Given the description of an element on the screen output the (x, y) to click on. 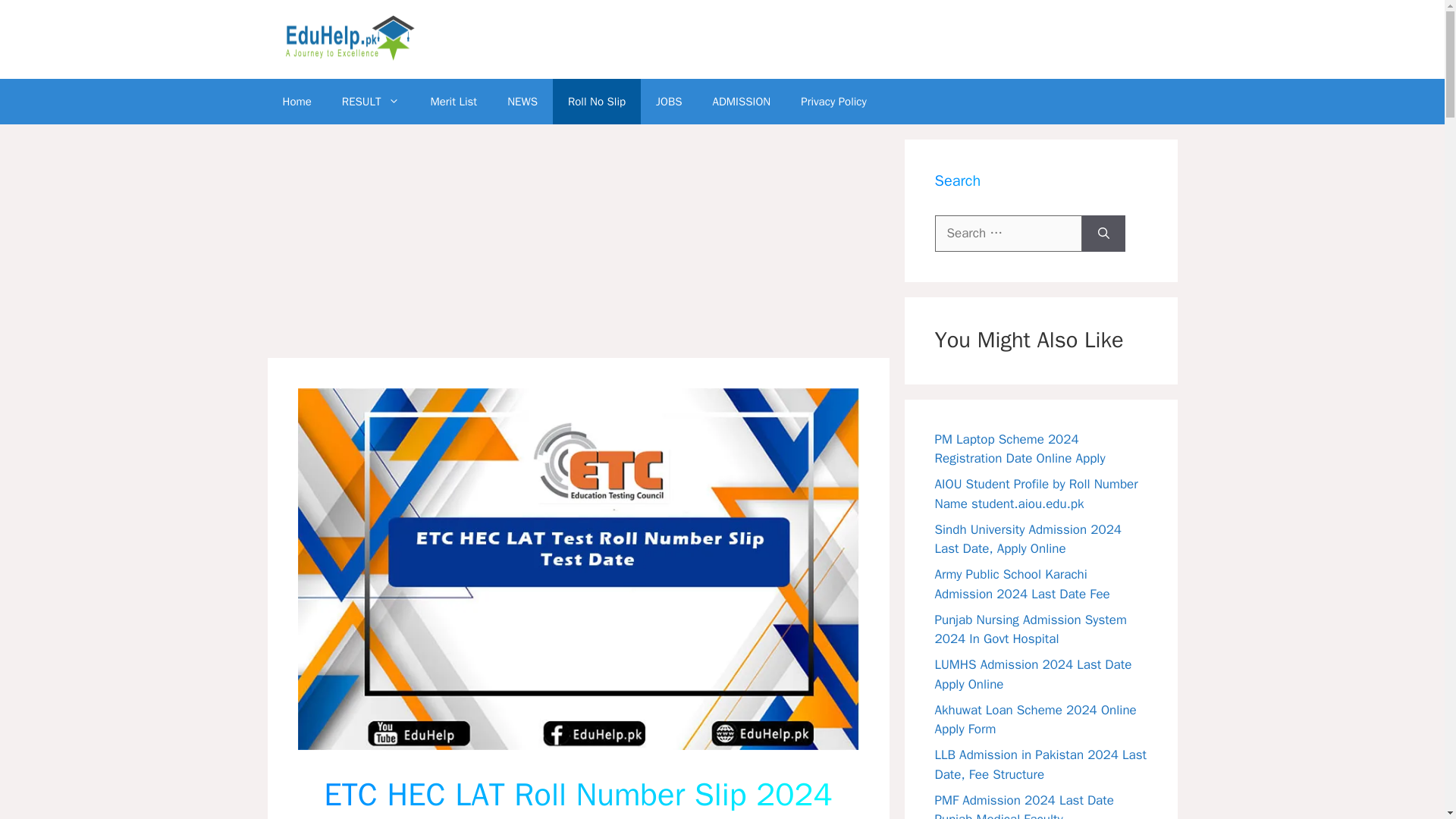
Search for: (1007, 233)
RESULT (370, 101)
ADMISSION (741, 101)
JOBS (668, 101)
NEWS (522, 101)
Home (296, 101)
Privacy Policy (834, 101)
Roll No Slip (596, 101)
Merit List (453, 101)
